Given the description of an element on the screen output the (x, y) to click on. 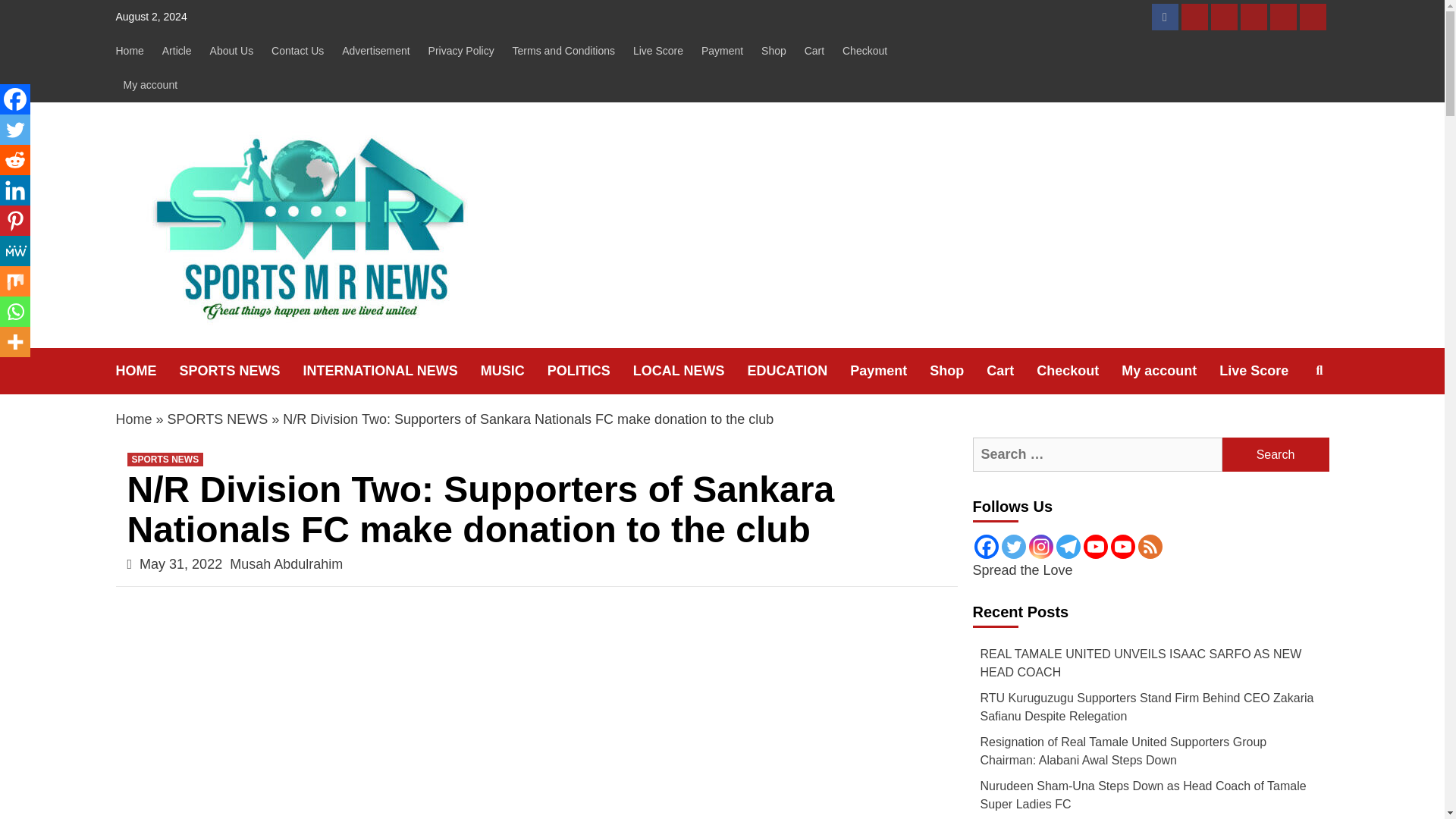
Article (176, 50)
Shop (773, 50)
Cart (1253, 17)
INTERNATIONAL NEWS (391, 370)
Payment (722, 50)
MUSIC (513, 370)
Search (1276, 454)
Search (1276, 454)
HOME (147, 370)
LOCAL NEWS (690, 370)
